Given the description of an element on the screen output the (x, y) to click on. 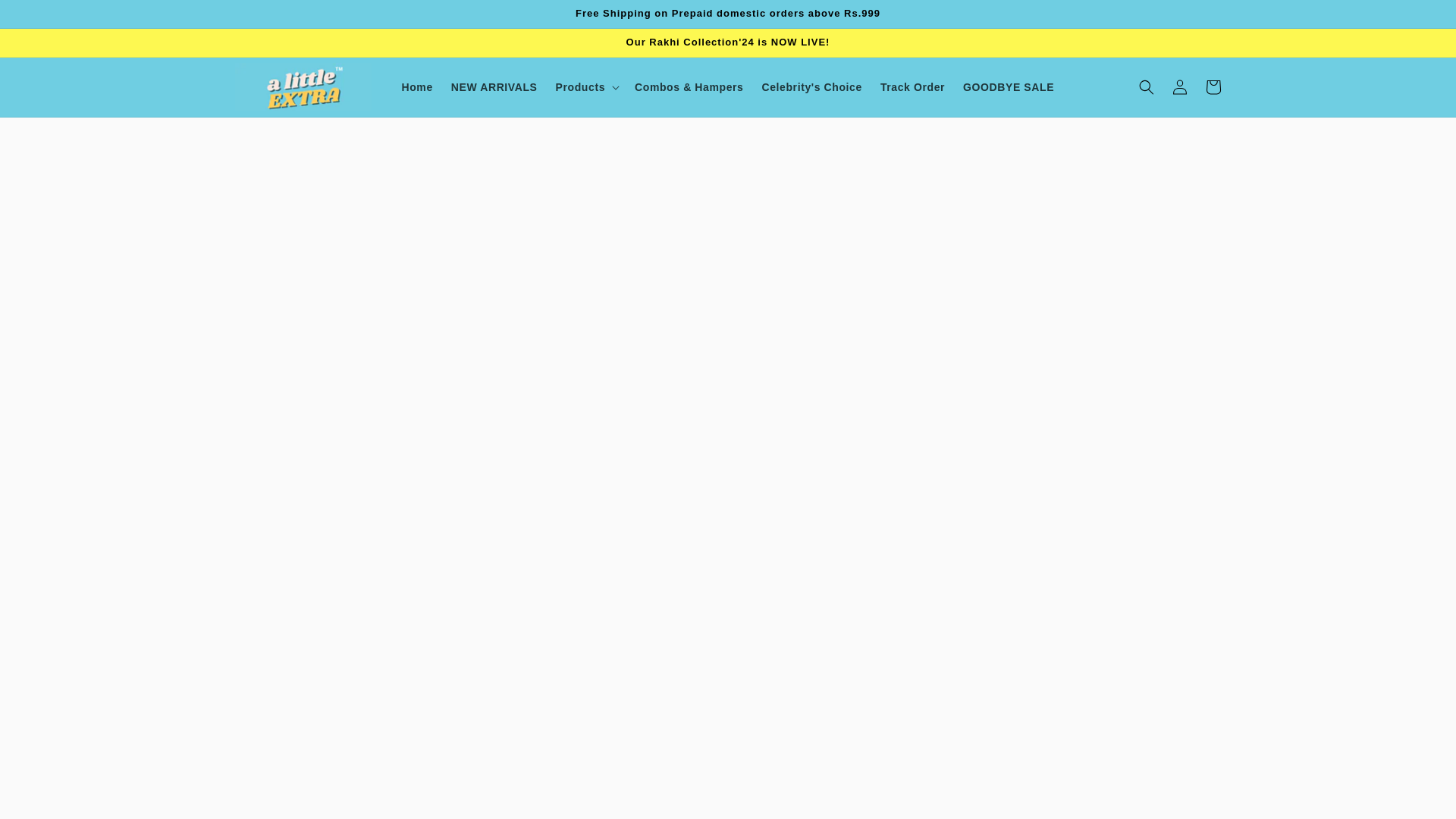
Skip to content (45, 17)
